Given the description of an element on the screen output the (x, y) to click on. 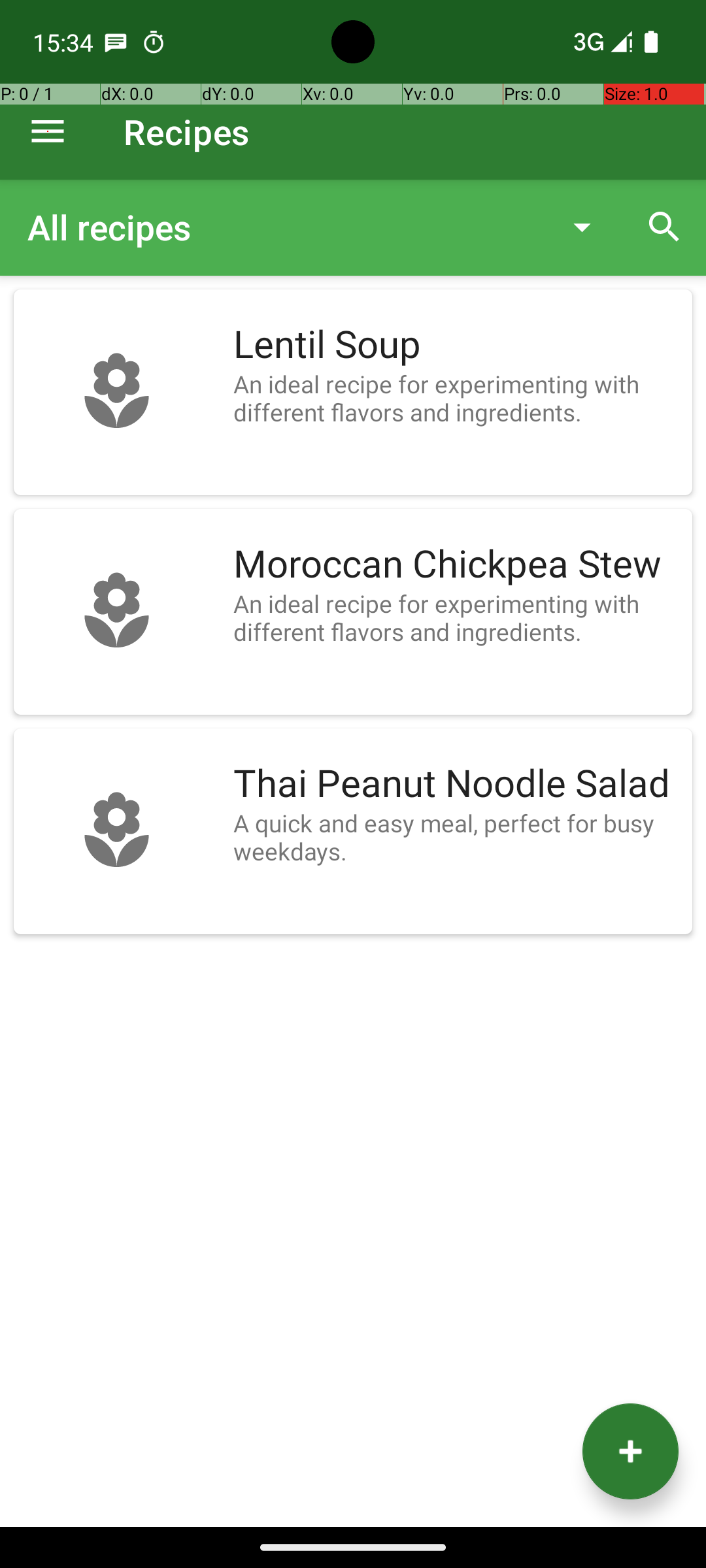
Thai Peanut Noodle Salad Element type: android.widget.TextView (455, 783)
